Given the description of an element on the screen output the (x, y) to click on. 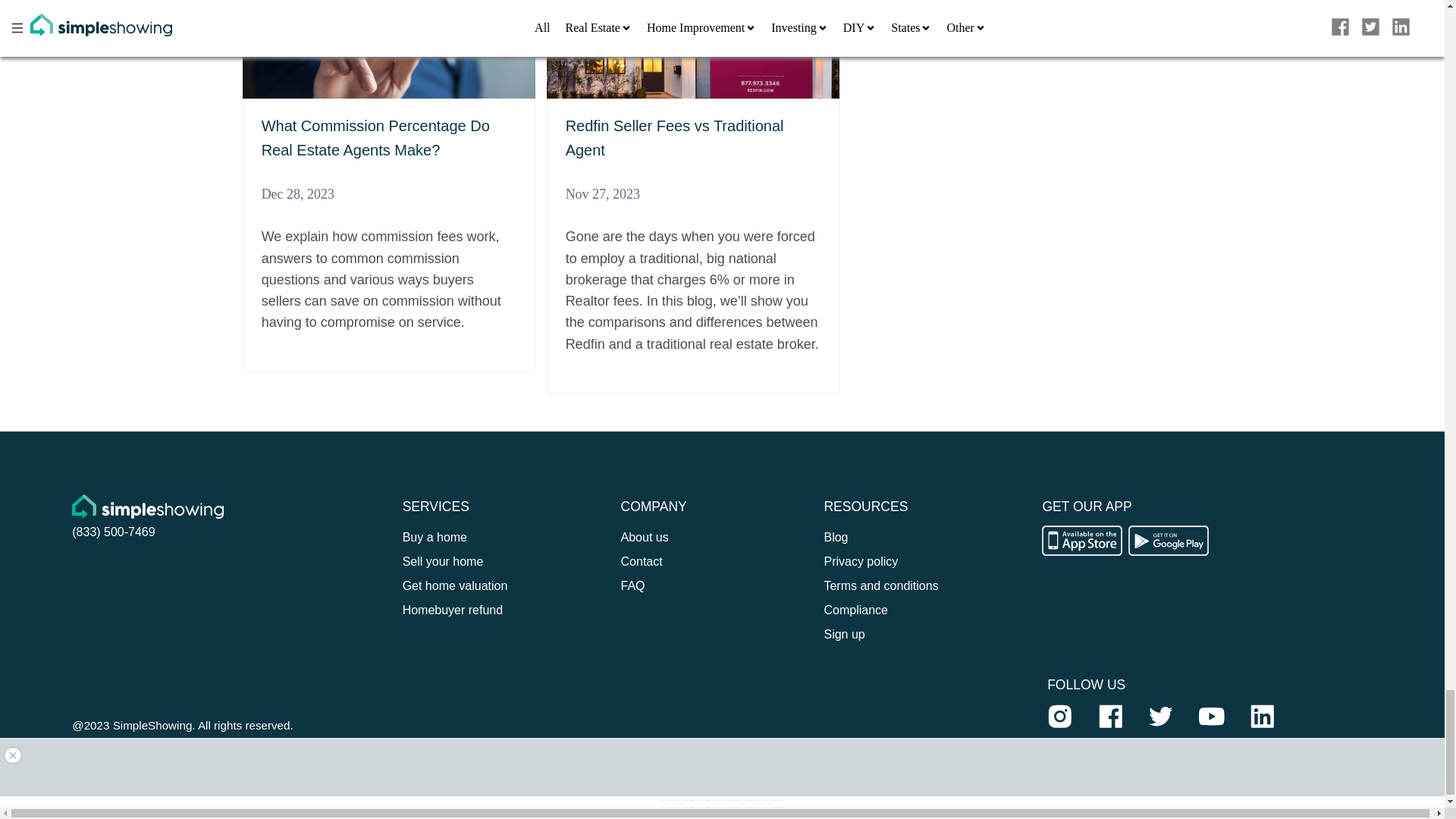
Contact (641, 561)
Blog (835, 536)
Terms and conditions (880, 585)
Privacy policy (861, 561)
Homebuyer refund (453, 609)
Sell your home (443, 561)
Compliance (855, 609)
Get home valuation (455, 585)
FAQ (633, 585)
Sign up (844, 634)
Buy a home (435, 536)
About us (644, 536)
